Given the description of an element on the screen output the (x, y) to click on. 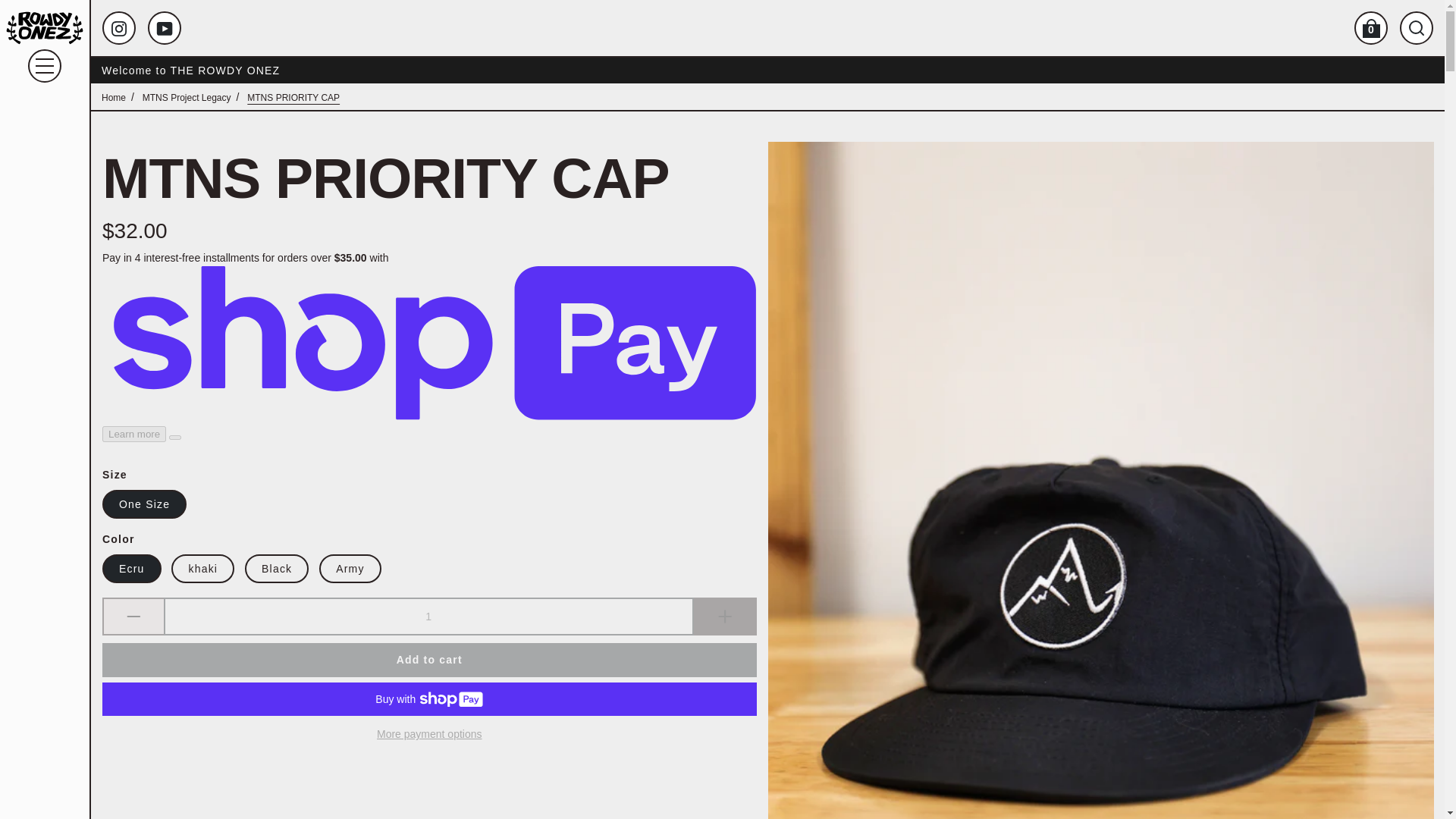
More payment options (429, 734)
Add to cart (429, 659)
1 (428, 616)
MTNS Project Legacy (186, 96)
Ross Robinson (43, 28)
Welcome to THE ROWDY ONEZ (767, 70)
0 (1370, 28)
MTNS PRIORITY CAP (293, 96)
